Given the description of an element on the screen output the (x, y) to click on. 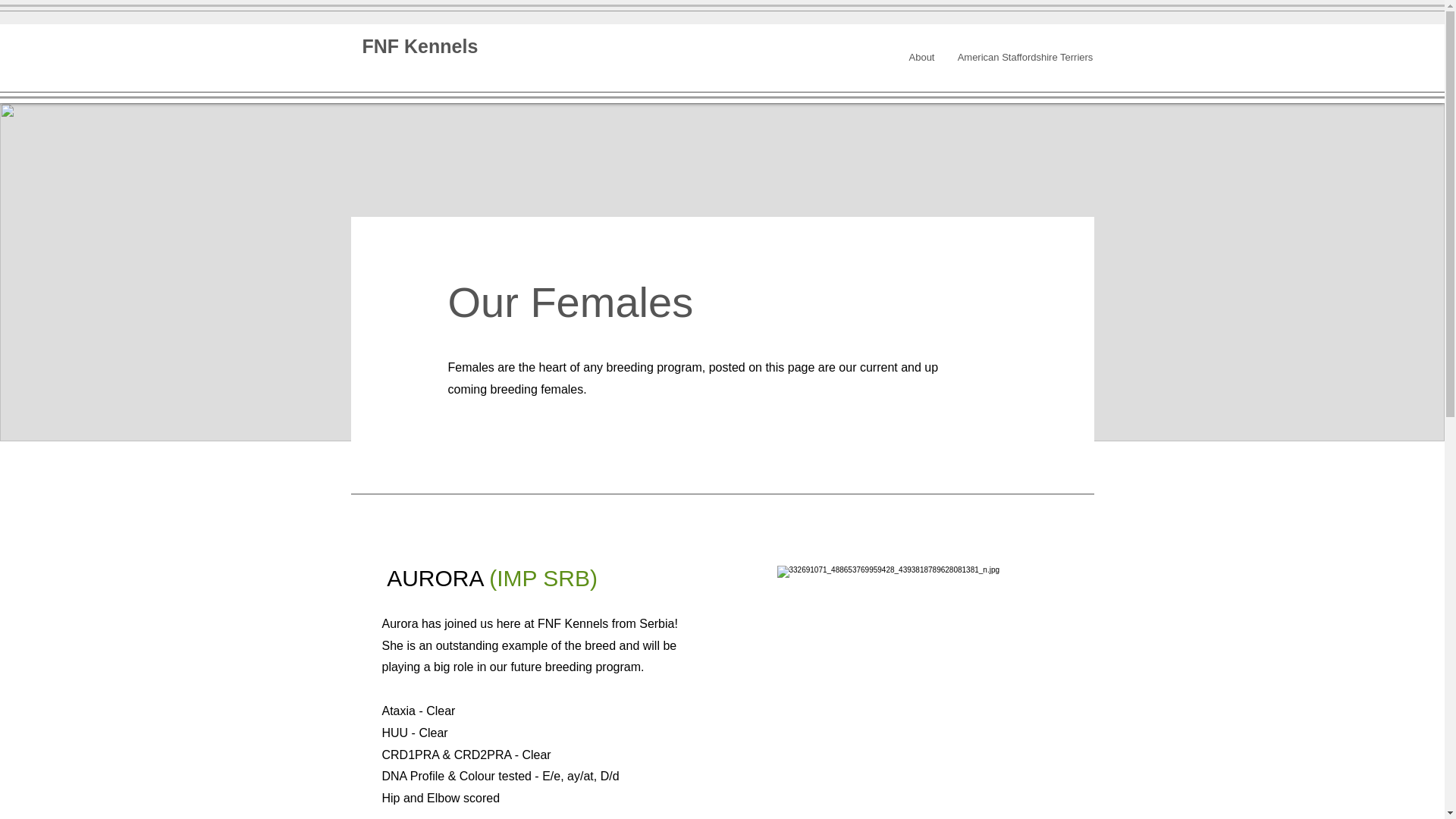
About (922, 57)
American Staffordshire Terriers (1025, 57)
FNF Kennels (420, 46)
